Given the description of an element on the screen output the (x, y) to click on. 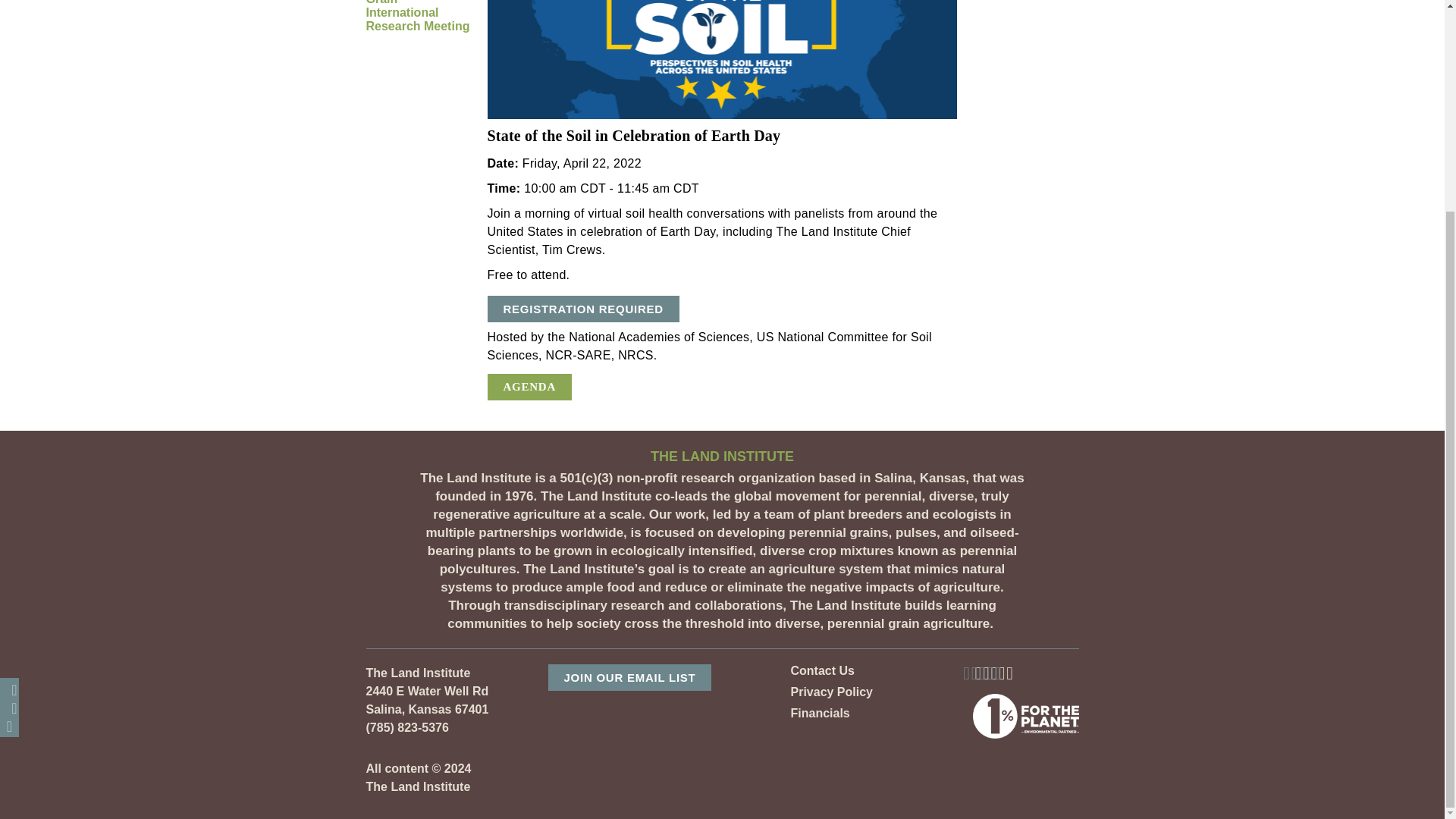
Tweet (9, 433)
Facebook (9, 414)
